Given the description of an element on the screen output the (x, y) to click on. 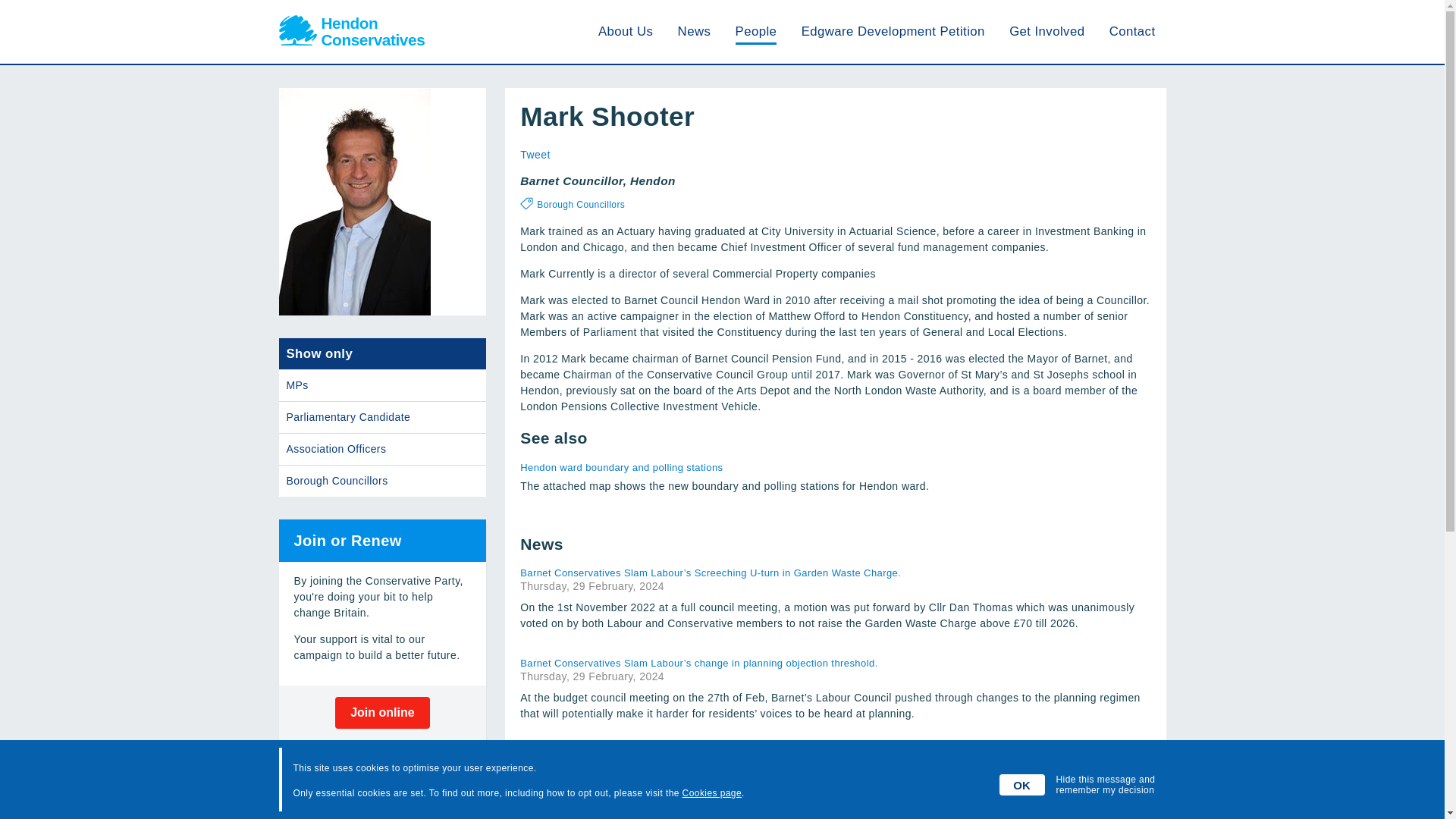
Parliamentary Candidate (382, 417)
Get Involved (1046, 31)
Edgware Development Petition (893, 31)
OK (1021, 784)
Cookies page (711, 792)
About Us (625, 31)
Hendon ward boundary and polling stations (723, 467)
Association Officers (382, 449)
Join online (381, 712)
Borough Councillors (382, 481)
Edgware Development Petition (893, 31)
MPs (382, 385)
News (694, 31)
Contact (1132, 31)
